Given the description of an element on the screen output the (x, y) to click on. 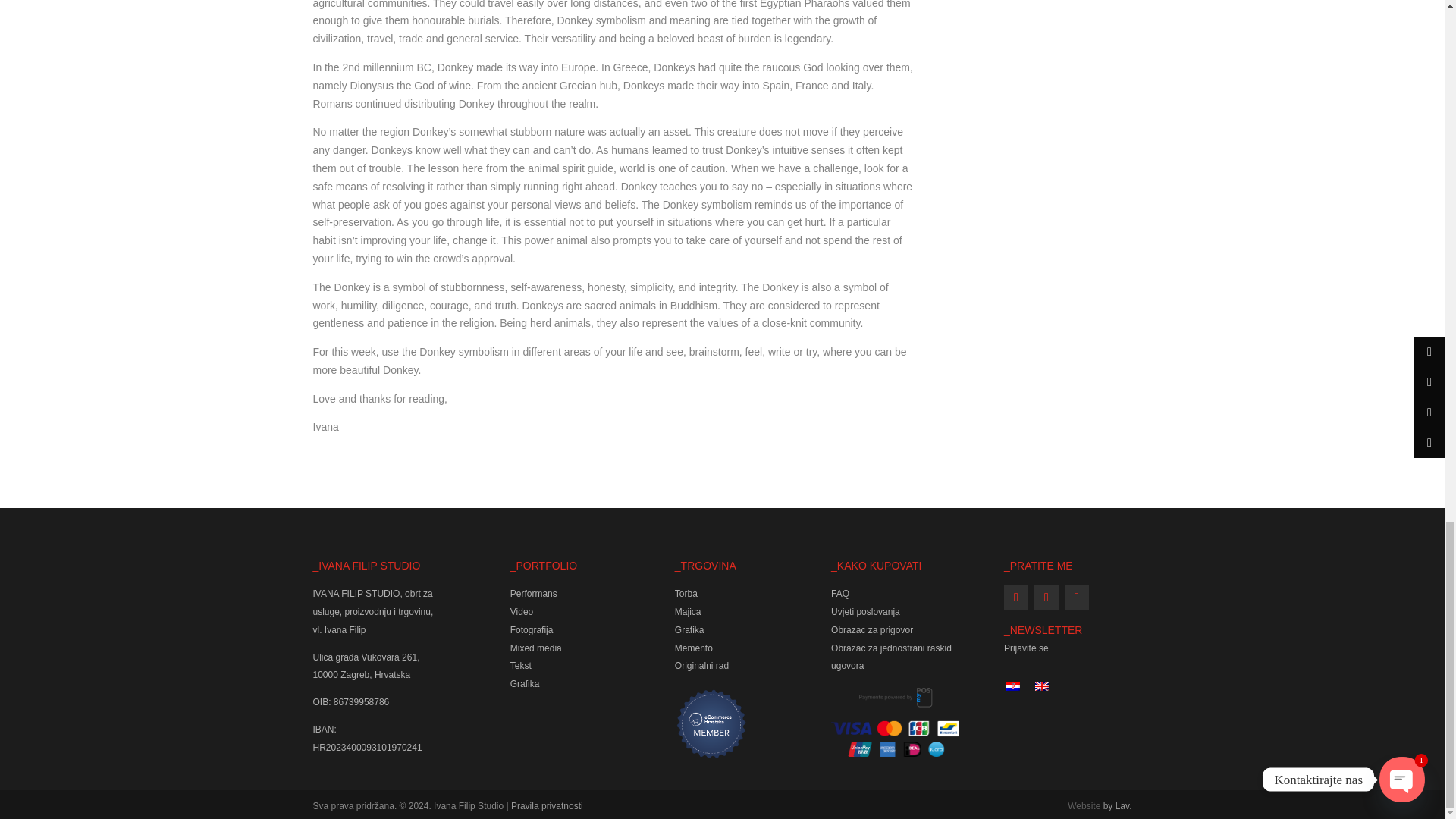
Follow on Instagram (1045, 597)
Payments powered by myPOS (894, 721)
eCommerce Hrvatska Member (710, 723)
Follow on Facebook (1015, 597)
Follow on Youtube (1076, 597)
